Given the description of an element on the screen output the (x, y) to click on. 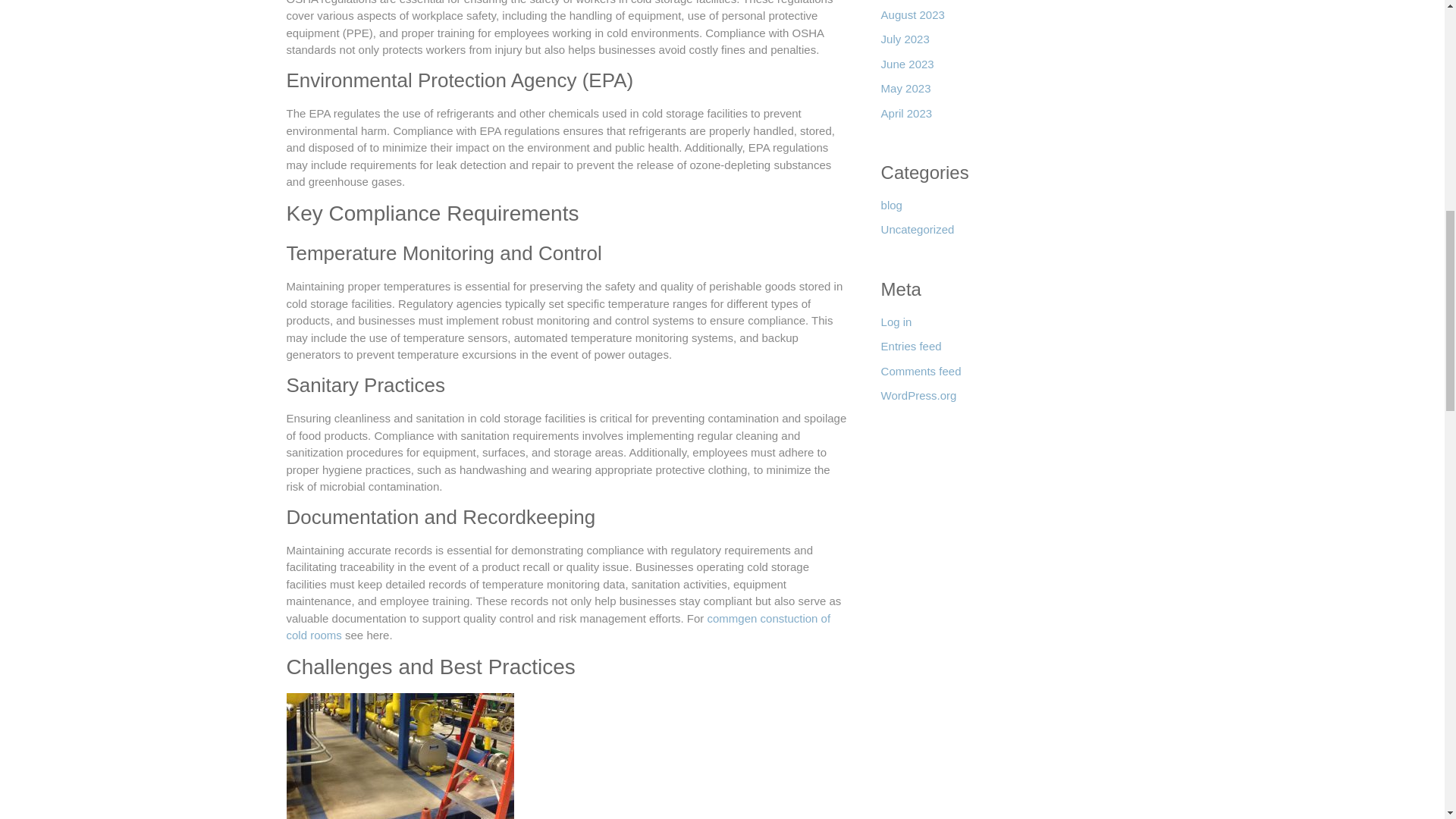
August 2023 (912, 18)
September 2023 (922, 3)
commgen constuction of cold rooms (558, 626)
July 2023 (905, 43)
Compliance in Cold Storage (399, 755)
